Given the description of an element on the screen output the (x, y) to click on. 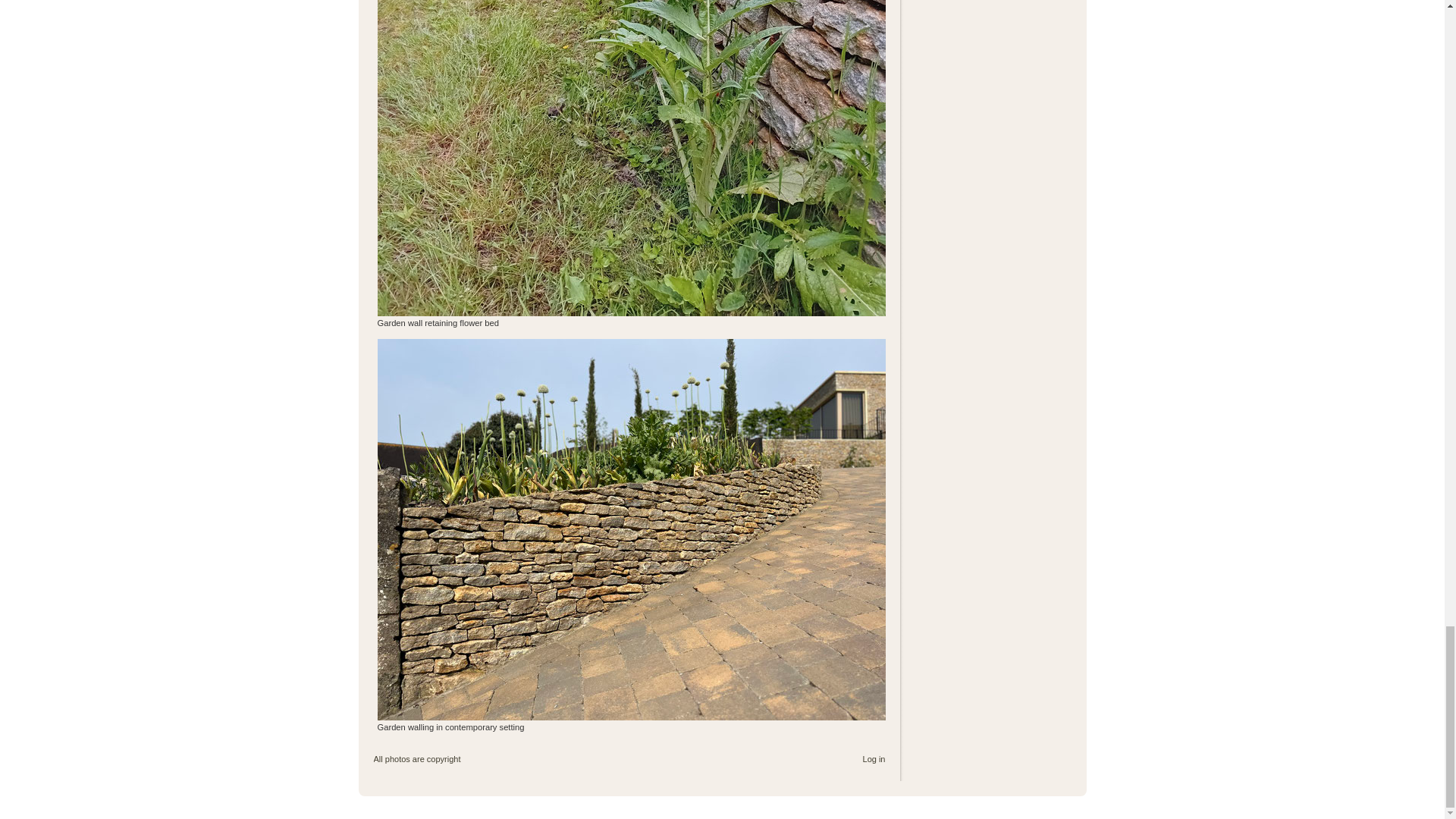
Log in (874, 758)
